Given the description of an element on the screen output the (x, y) to click on. 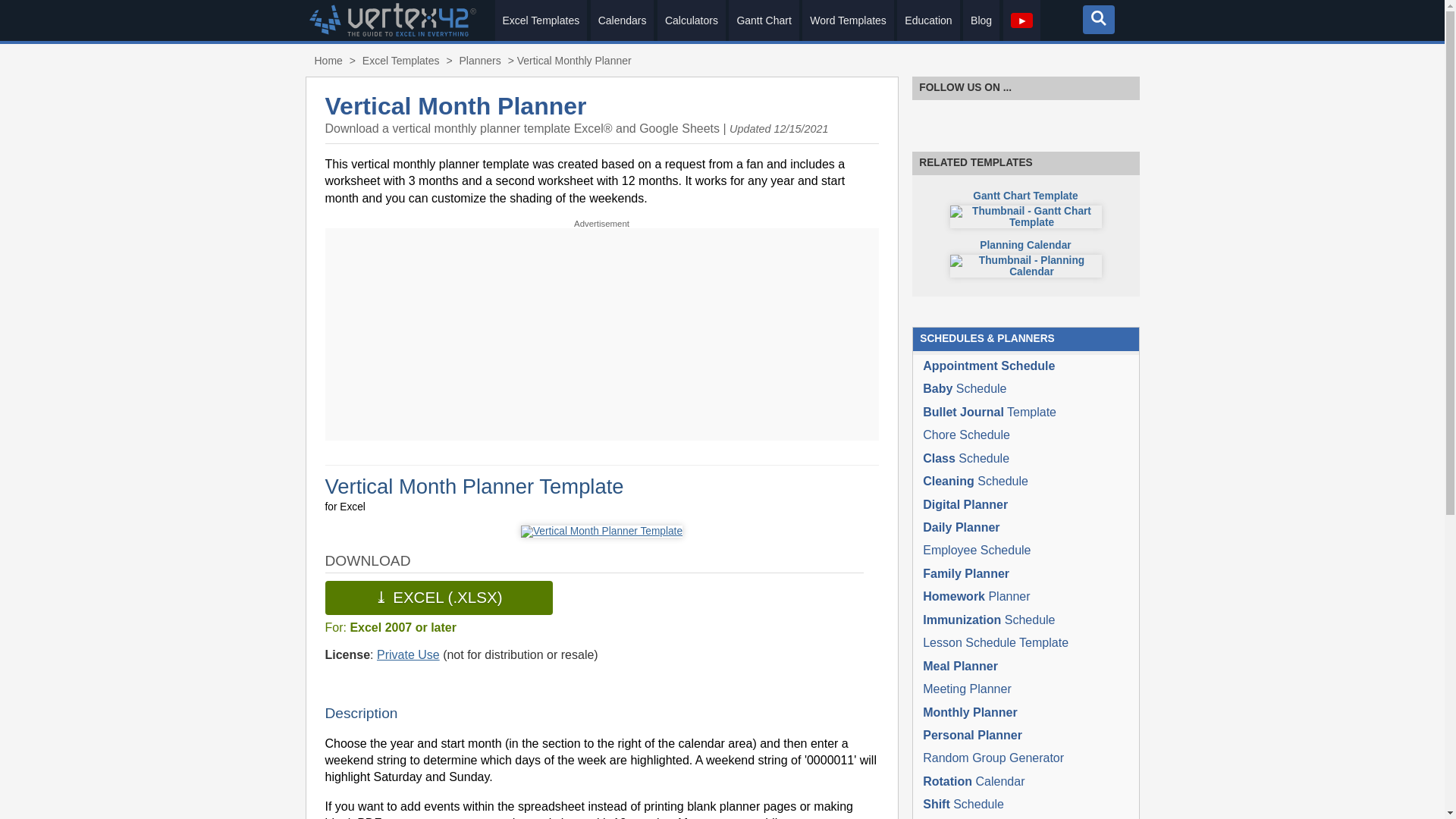
Planners (479, 60)
Home: Vertex42 Excel Templates, Calculators, and Calendars (392, 31)
Education (927, 20)
Vertex42 Home - Excel Templates, Calculators and Calendars (328, 60)
Excel Templates (400, 60)
Gantt Chart Template (1025, 209)
Gantt Chart Template (763, 20)
Calendars (622, 20)
YouTube (1118, 117)
Vertex42 Logo (392, 31)
